Given the description of an element on the screen output the (x, y) to click on. 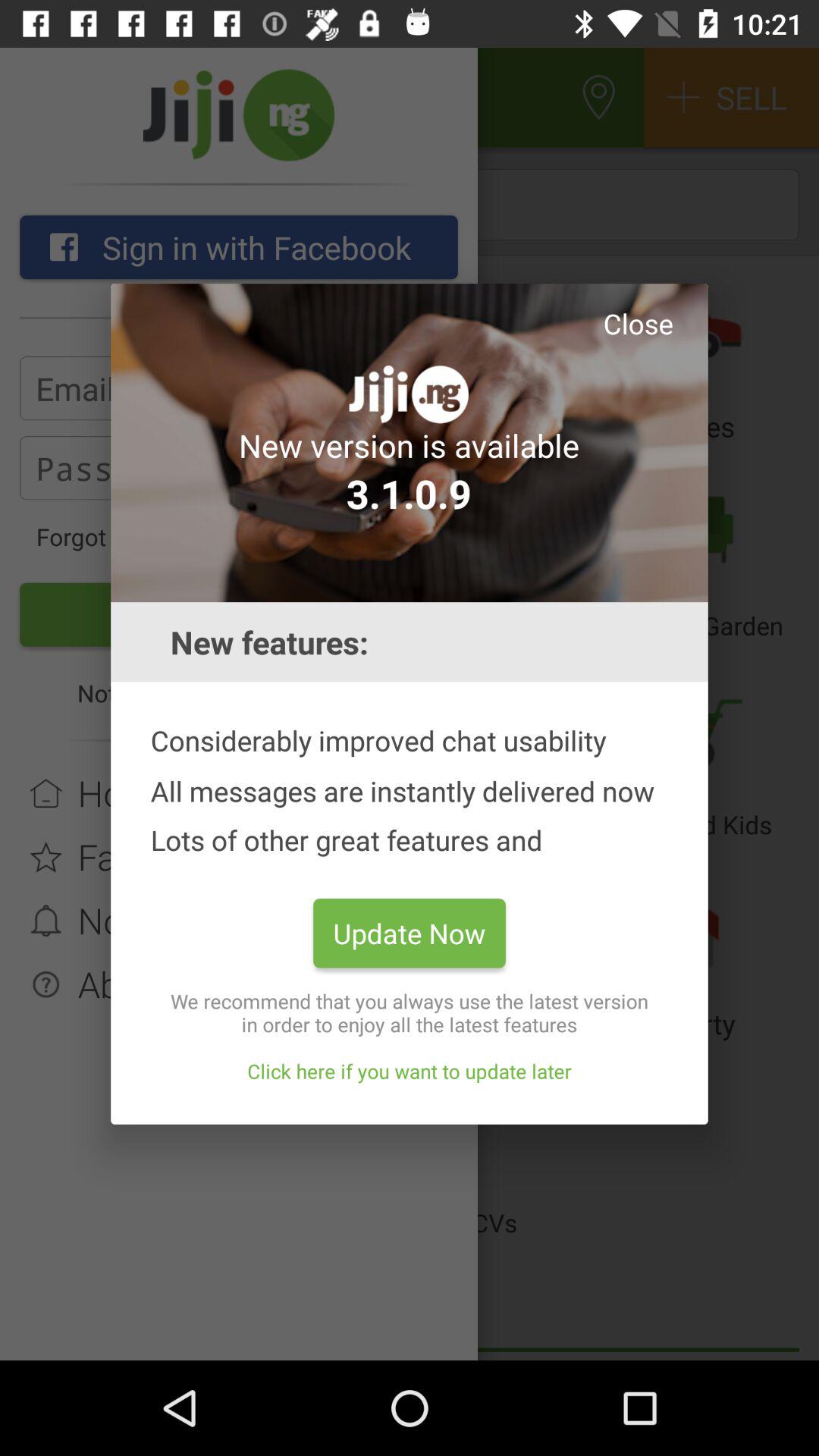
choose the close at the top right corner (638, 323)
